Given the description of an element on the screen output the (x, y) to click on. 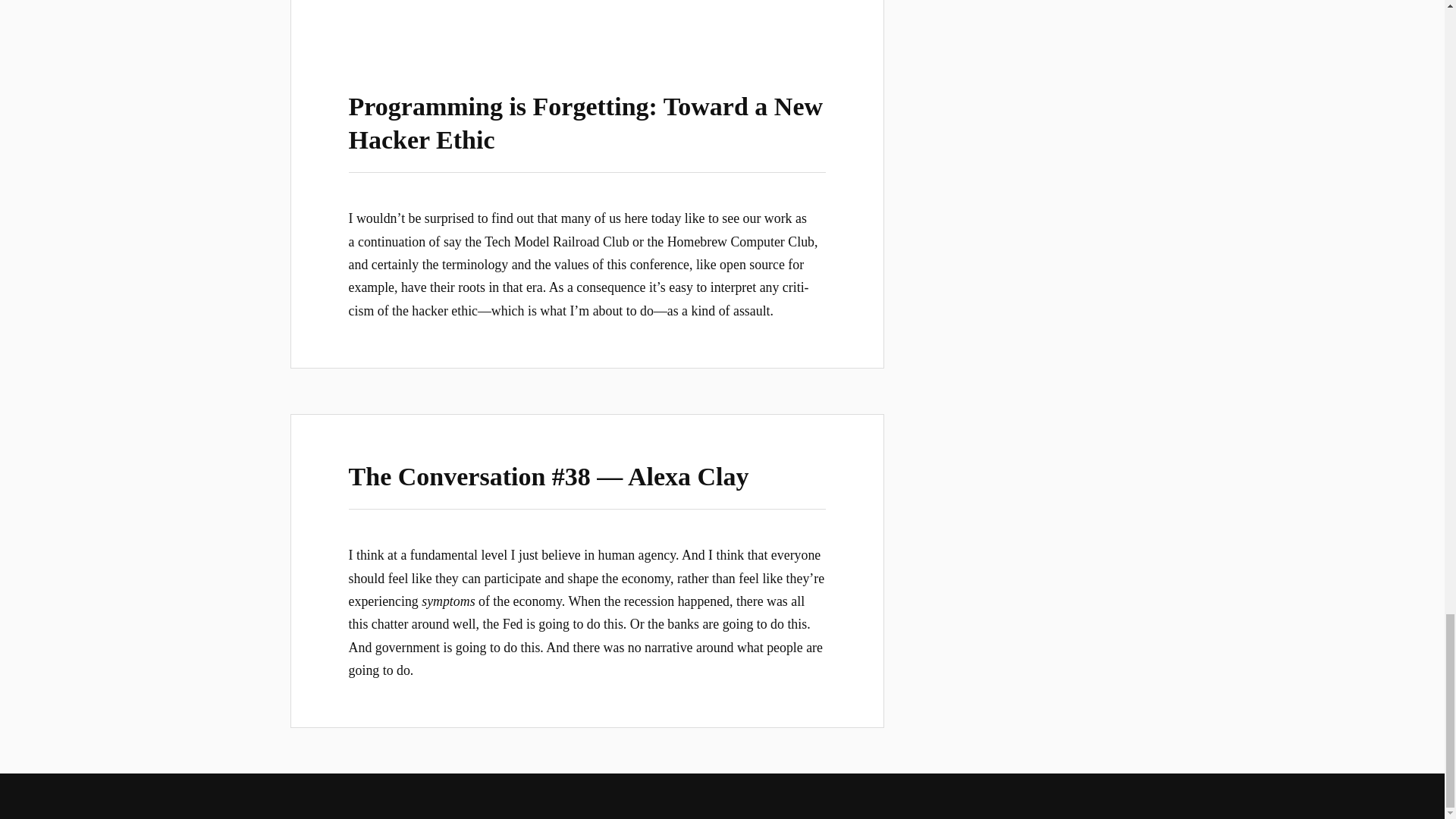
Programming is Forgetting: Toward a New Hacker Ethic (585, 122)
